Given the description of an element on the screen output the (x, y) to click on. 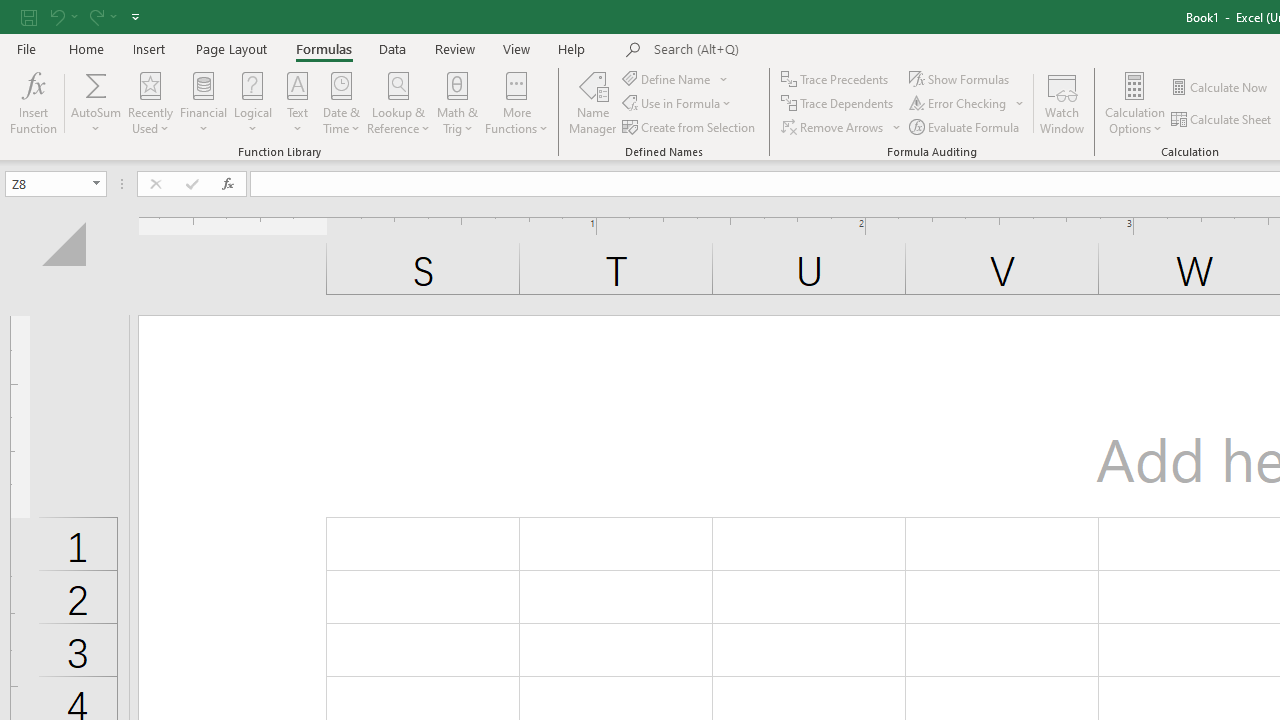
Define Name (676, 78)
Show Formulas (961, 78)
Lookup & Reference (398, 102)
Name Manager (593, 102)
Date & Time (342, 102)
Sum (96, 84)
More Functions (516, 102)
Text (297, 102)
Recently Used (150, 102)
